Given the description of an element on the screen output the (x, y) to click on. 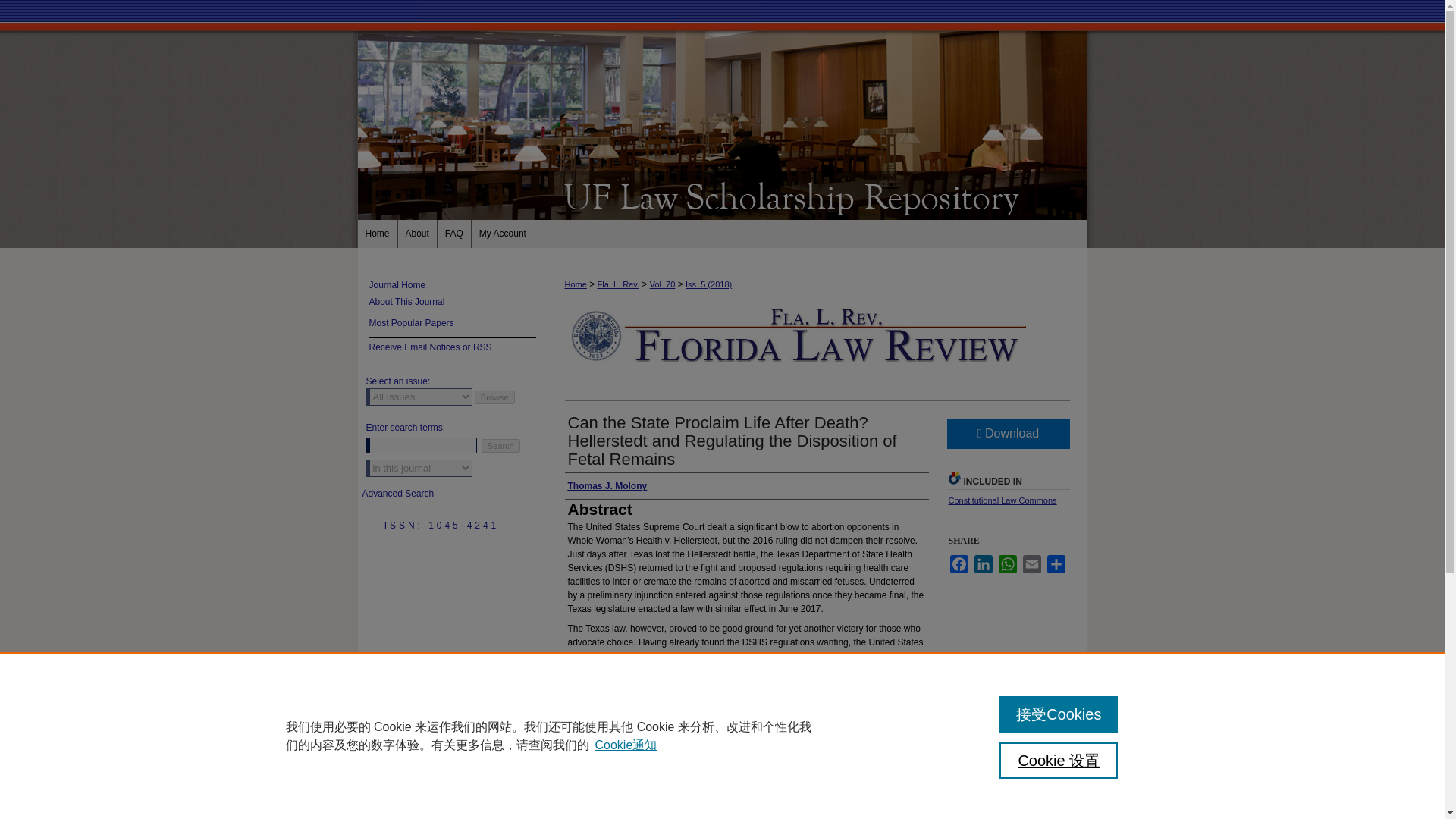
Constitutional Law Commons (1002, 500)
Home (575, 284)
About (416, 234)
Most Popular Papers (451, 325)
Constitutional Law Commons (1002, 500)
Browse (494, 397)
Download (1007, 433)
About (416, 234)
Search (500, 445)
FAQ (454, 234)
Browse (494, 397)
About This Journal (450, 301)
Receive Email Notices or RSS (451, 350)
Home (377, 234)
